Given the description of an element on the screen output the (x, y) to click on. 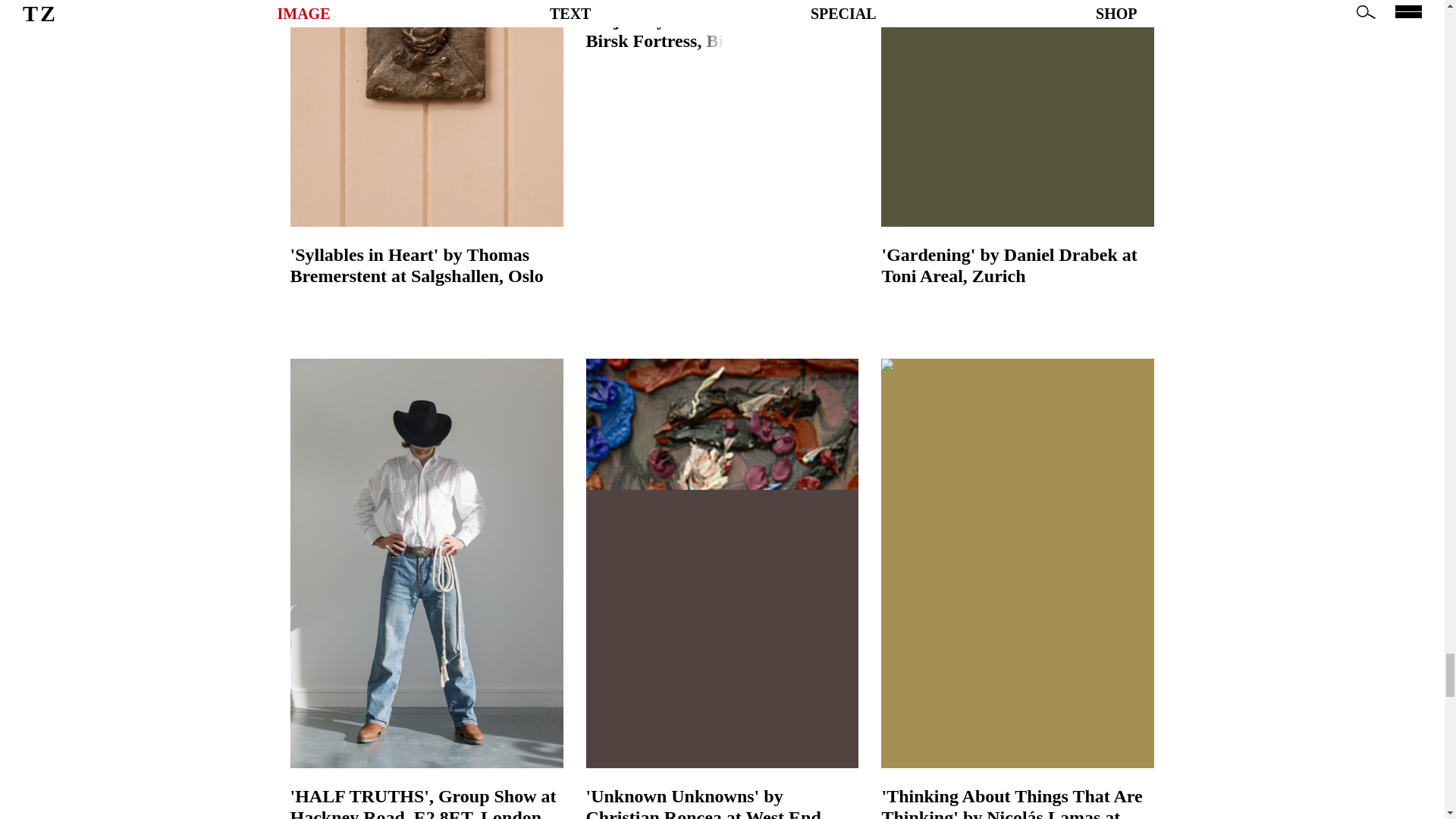
'Gardening' by Daniel Drabek at Toni Areal, Zurich (1017, 265)
'Gardening' by Daniel Drabek at Toni Areal, Zurich (1017, 143)
'HALF TRUTHS', Group Show at Hackney Road, E2 8ET, London (426, 802)
